Given the description of an element on the screen output the (x, y) to click on. 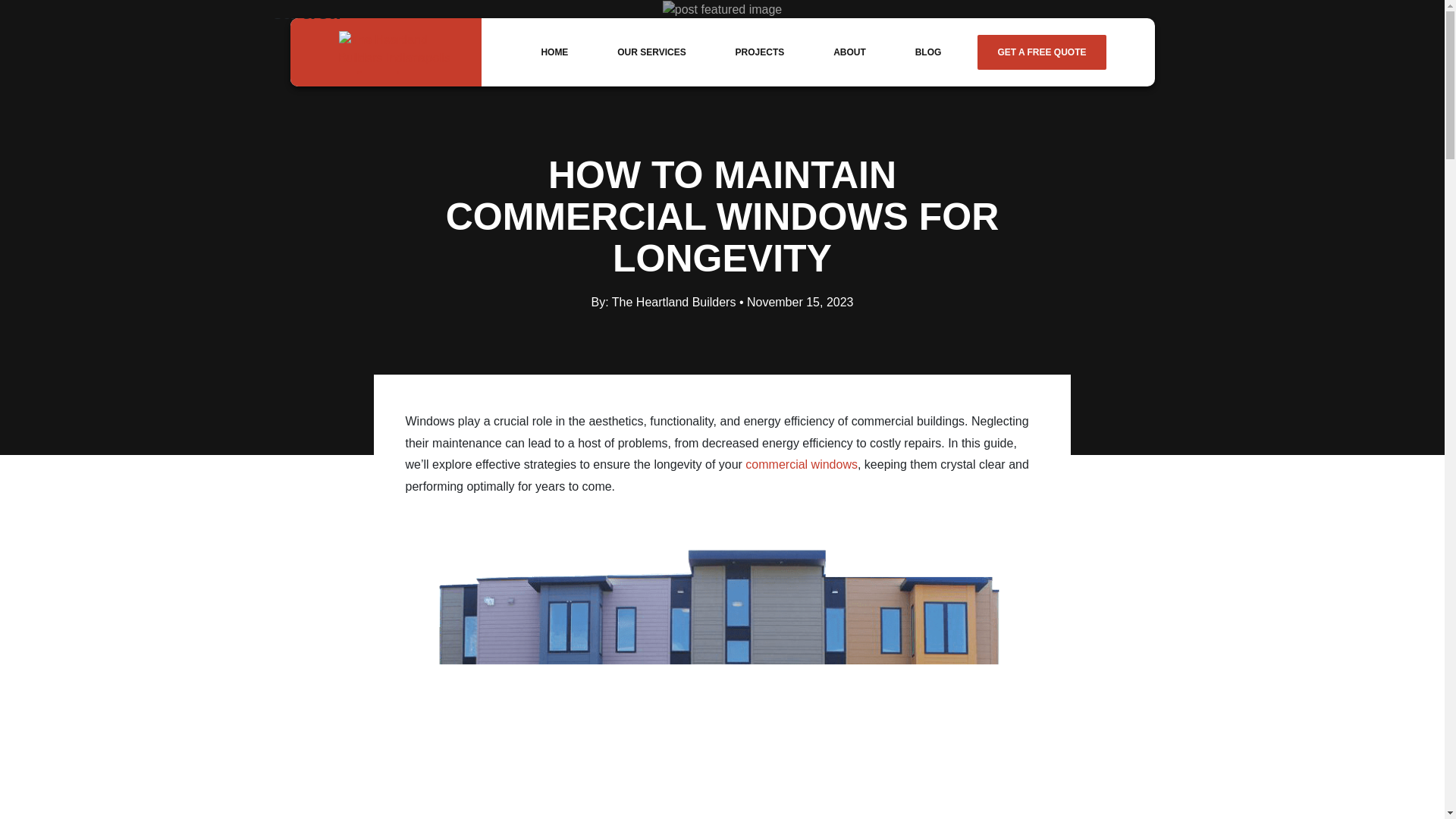
commercial windows (801, 463)
ABOUT (849, 51)
PROJECTS (759, 51)
HOME (553, 51)
GET A FREE QUOTE (1040, 52)
BLOG (928, 51)
OUR SERVICES (651, 51)
